Given the description of an element on the screen output the (x, y) to click on. 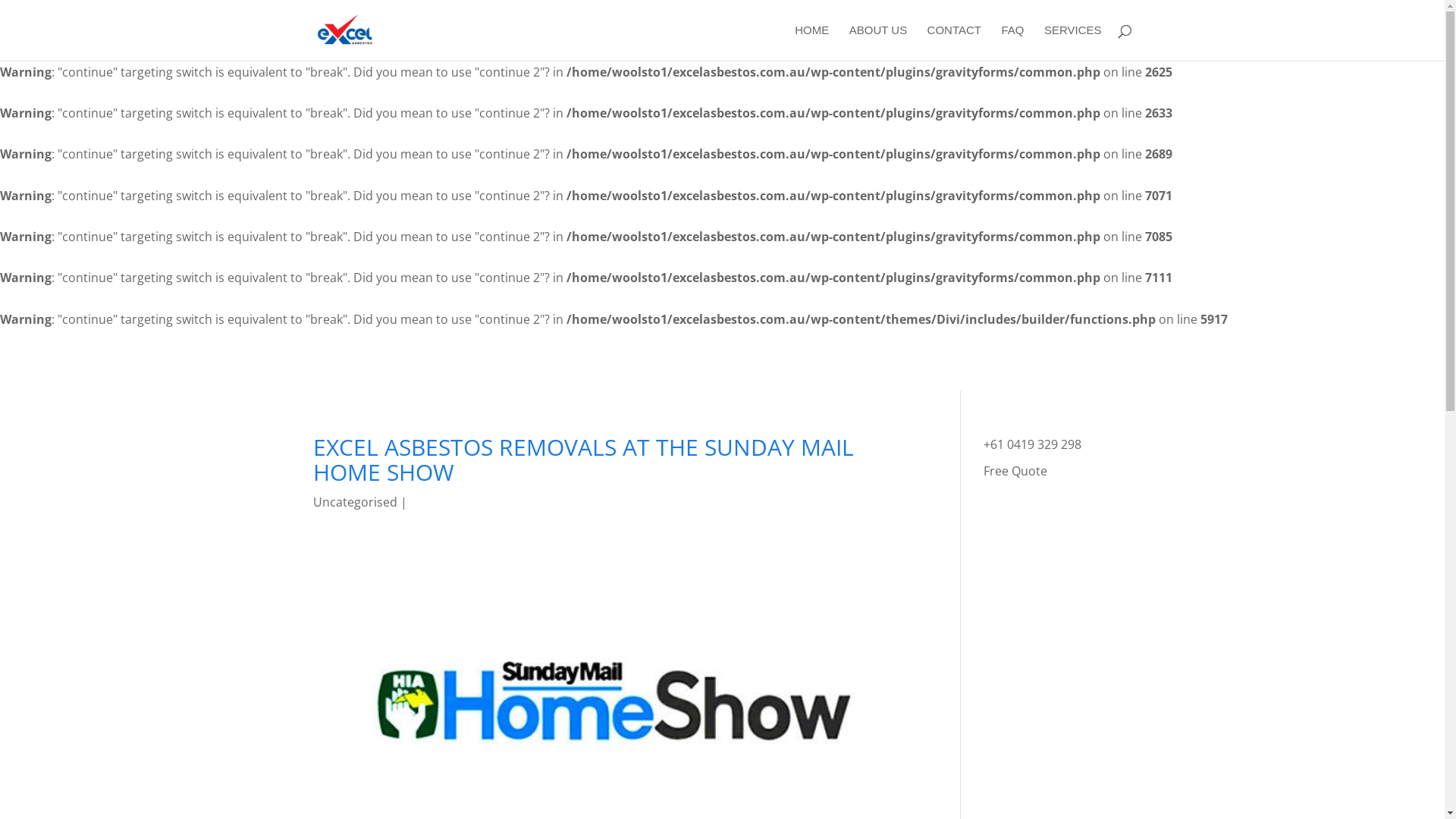
+61 0419 329 298 Element type: text (1032, 444)
FAQ Element type: text (1012, 42)
ABOUT US Element type: text (877, 42)
SERVICES Element type: text (1072, 42)
HOME Element type: text (811, 42)
CONTACT Element type: text (954, 42)
Free Quote Element type: text (1015, 470)
